Given the description of an element on the screen output the (x, y) to click on. 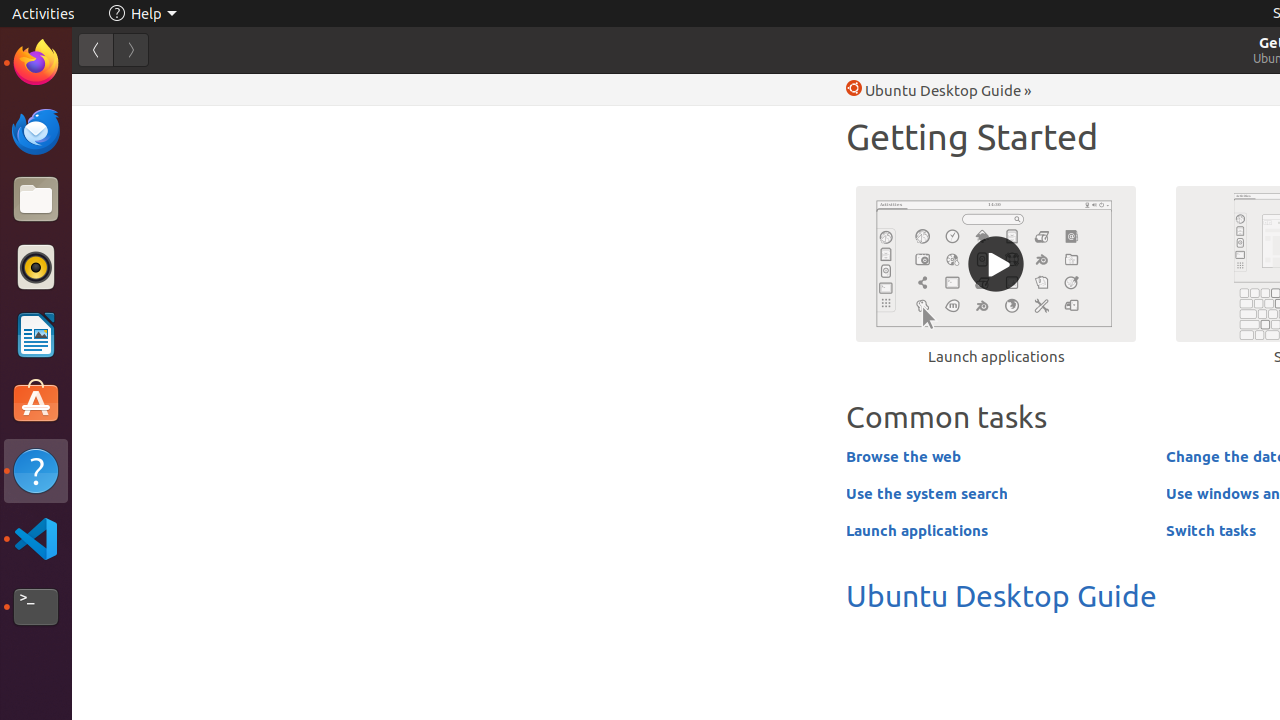
Terminal Element type: push-button (36, 607)
Use the system search Element type: link (927, 493)
